Given the description of an element on the screen output the (x, y) to click on. 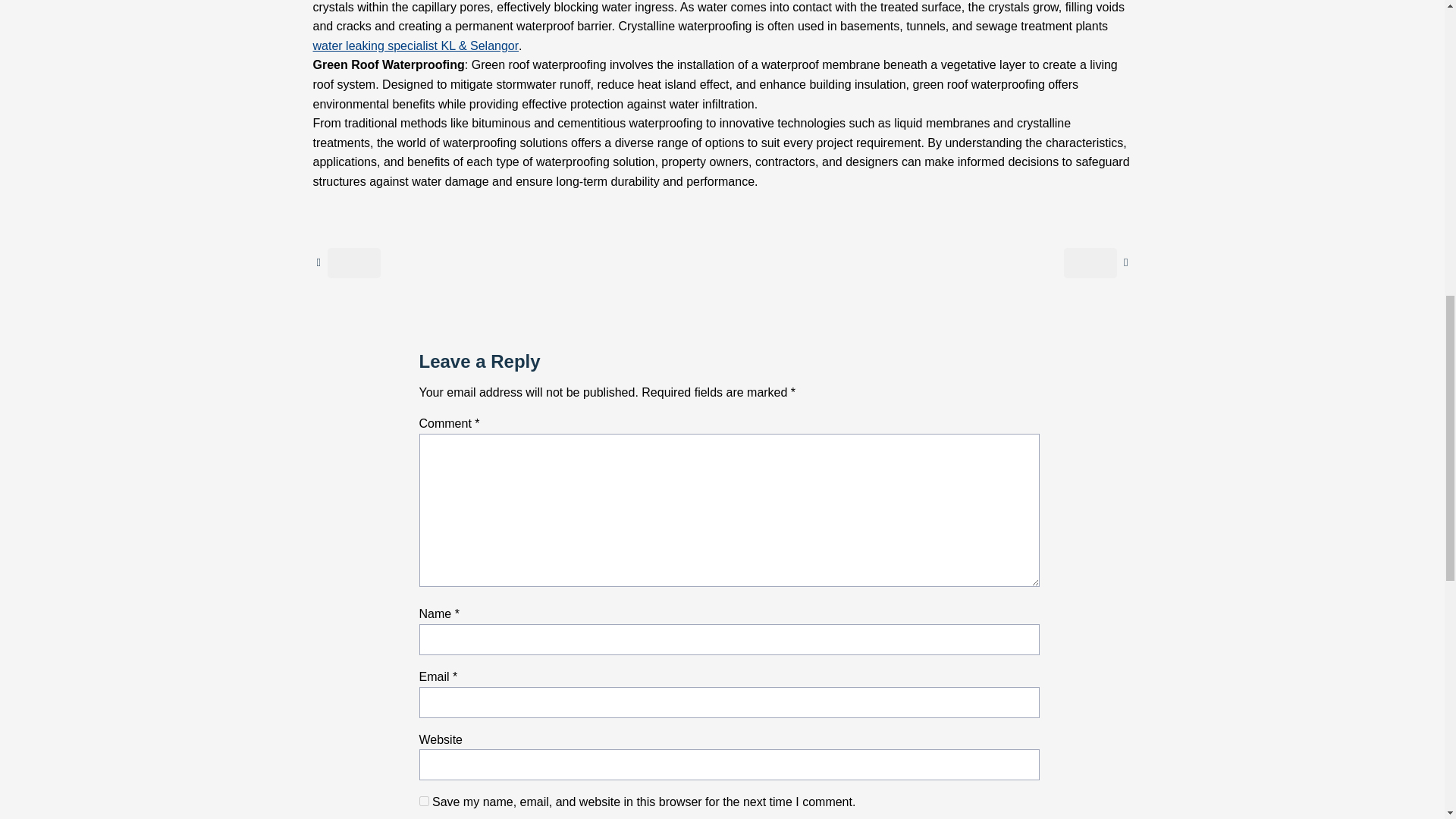
yes (423, 800)
